Given the description of an element on the screen output the (x, y) to click on. 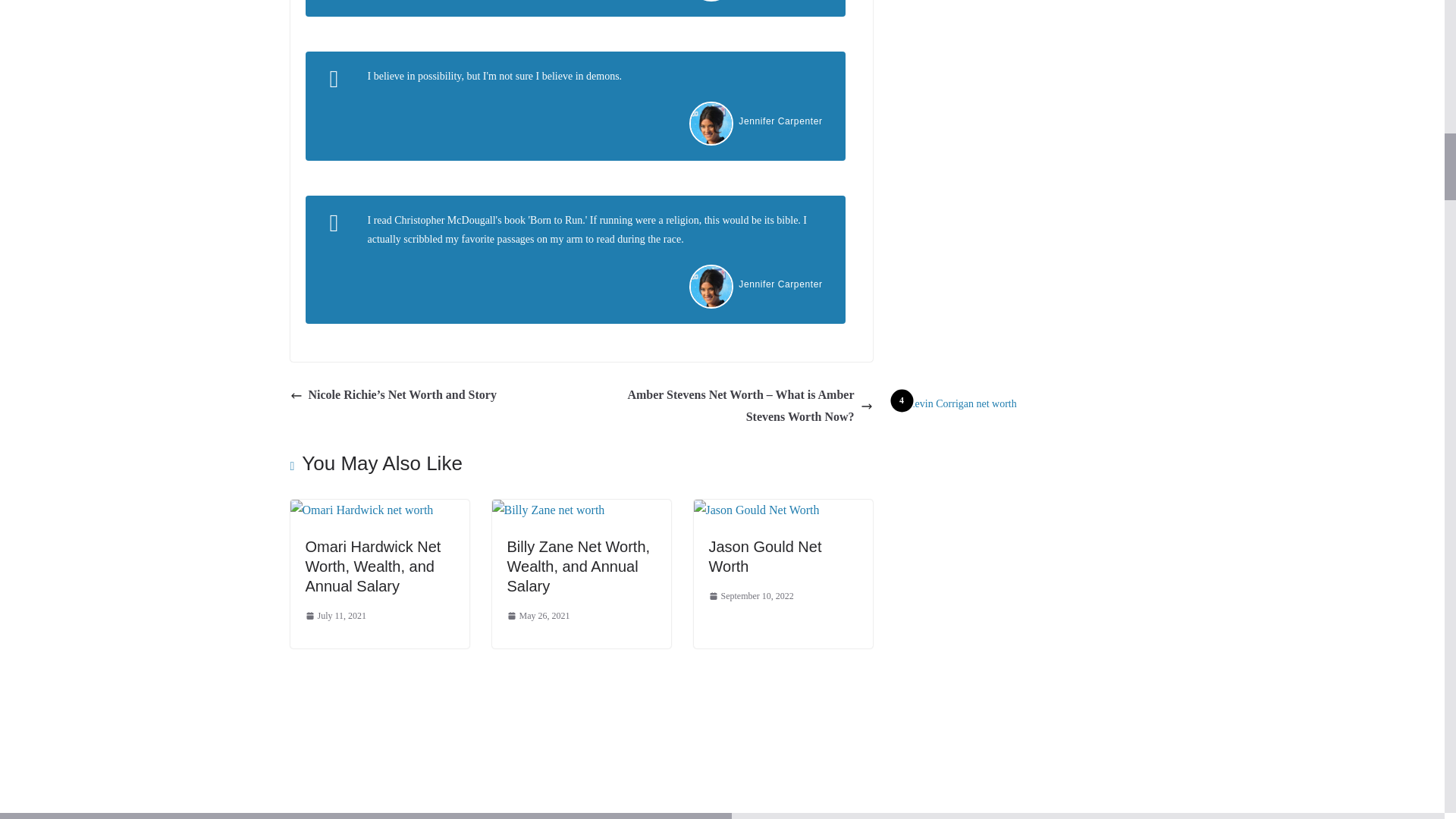
May 26, 2021 (537, 616)
Billy Zane Net Worth, Wealth, and Annual Salary (548, 509)
Omari Hardwick Net Worth, Wealth, and Annual Salary (372, 566)
Omari Hardwick Net Worth, Wealth, and Annual Salary (360, 509)
12:00 am (335, 616)
Omari Hardwick Net Worth, Wealth, and Annual Salary (372, 566)
Billy Zane Net Worth, Wealth, and Annual Salary (577, 566)
July 11, 2021 (335, 616)
